Given the description of an element on the screen output the (x, y) to click on. 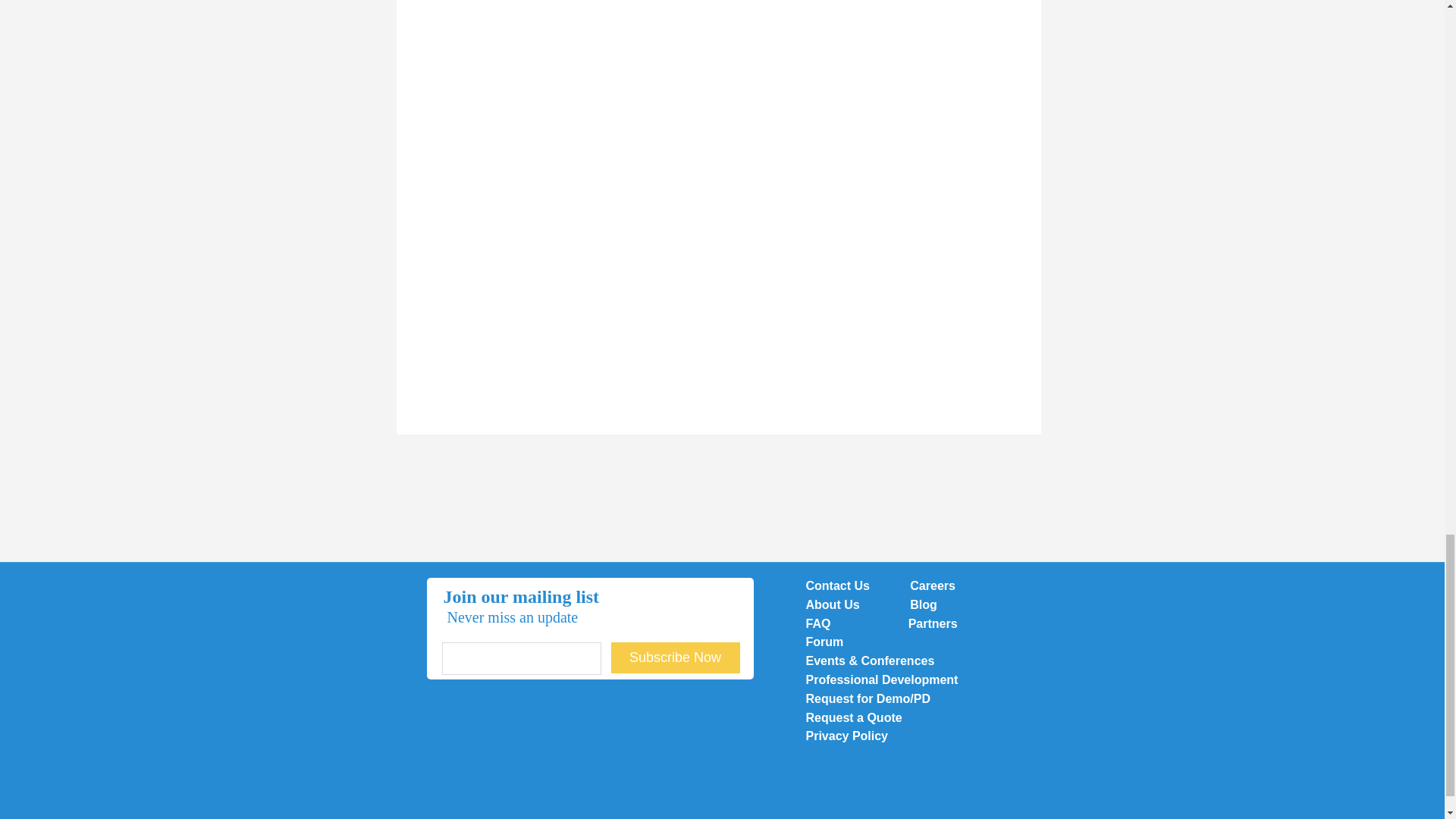
Blog (923, 604)
About Us  (834, 604)
Subscribe Now (675, 657)
Careers (932, 585)
Contact Us (837, 585)
Partners (933, 623)
FAQ      (826, 623)
